Given the description of an element on the screen output the (x, y) to click on. 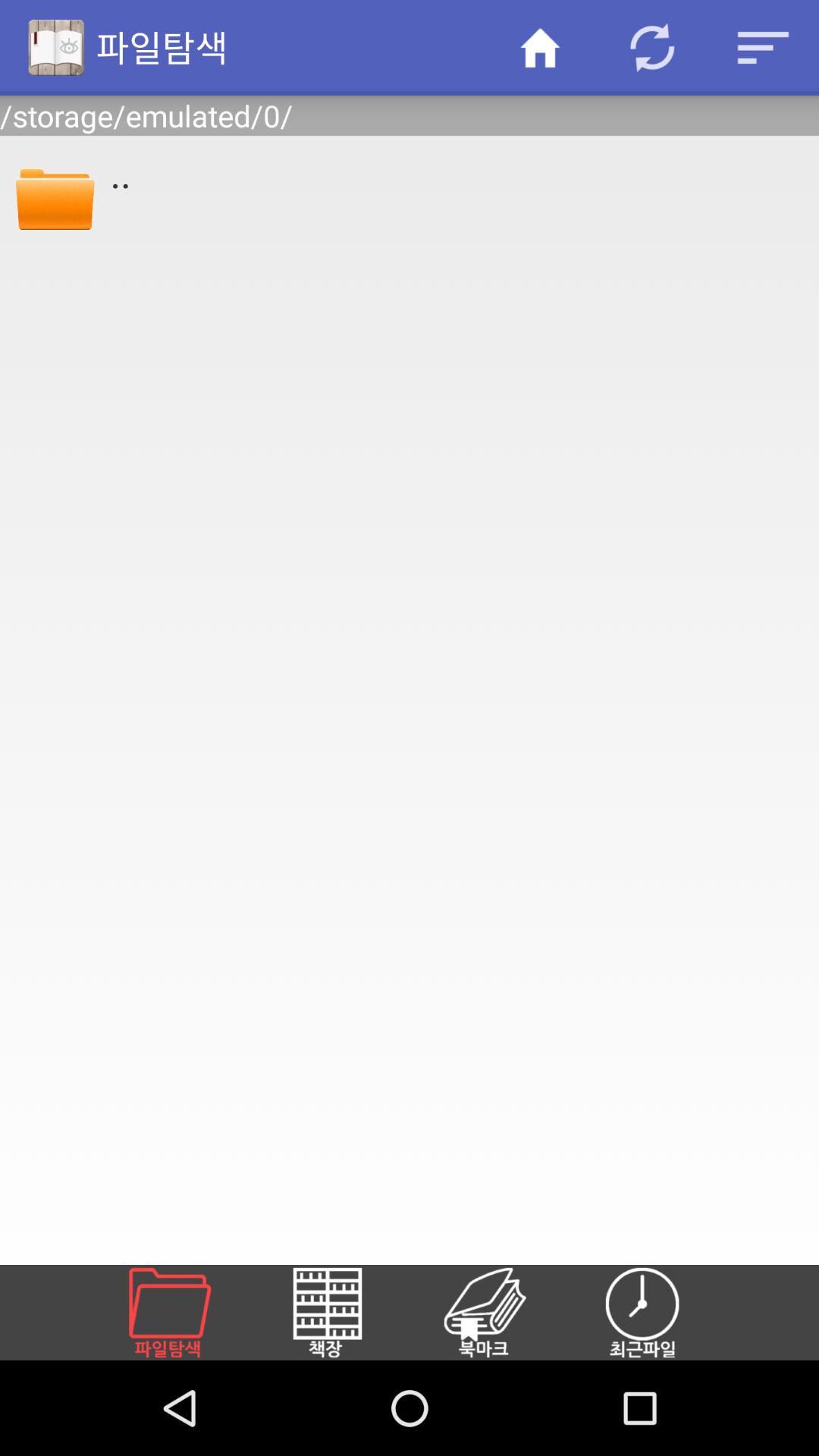
turn on item above /storage/emulated/0/ item (651, 47)
